Given the description of an element on the screen output the (x, y) to click on. 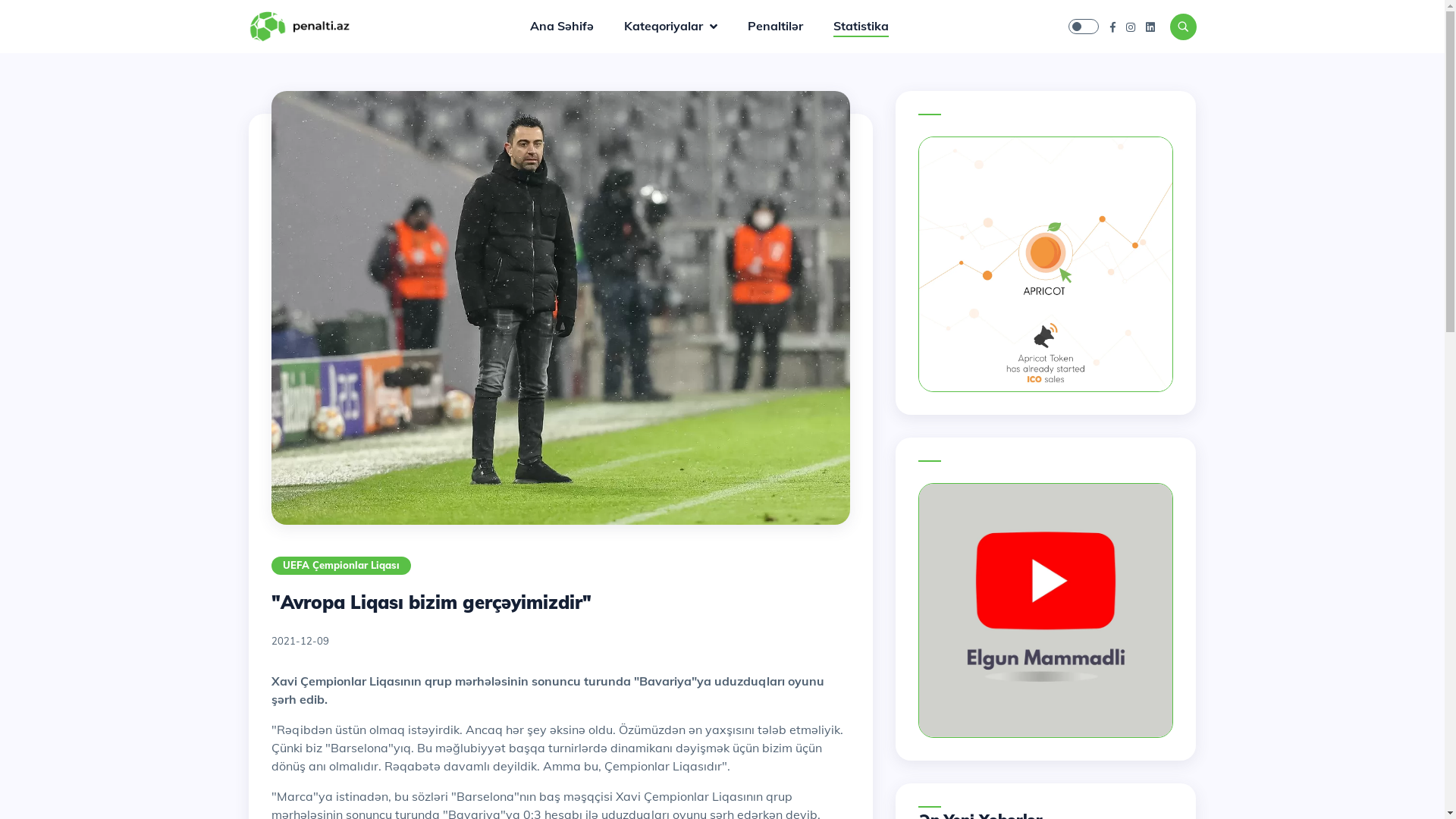
Kateqoriyalar Element type: text (685, 25)
Statistika Element type: text (860, 26)
